Given the description of an element on the screen output the (x, y) to click on. 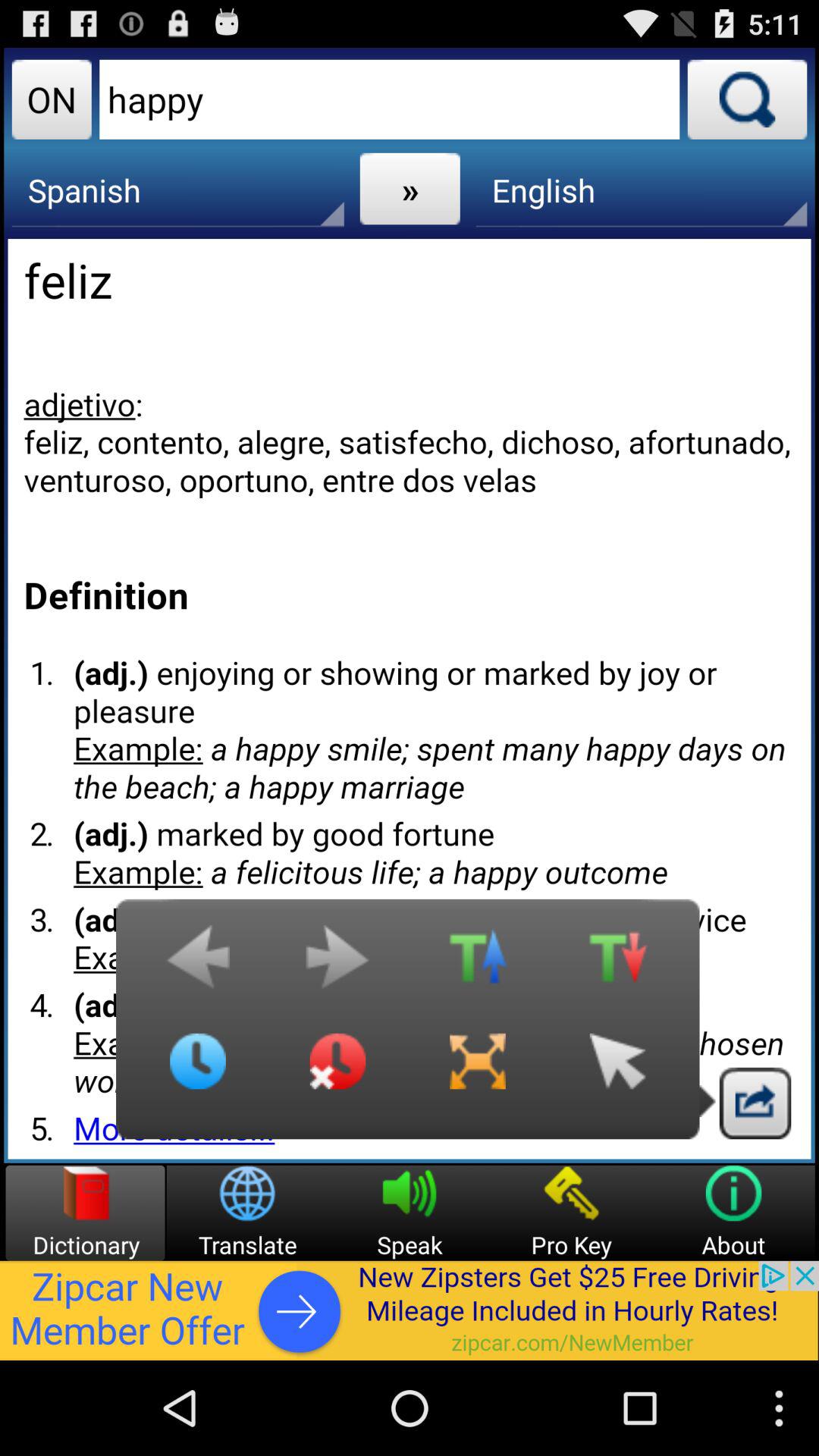
exit button (755, 1103)
